Given the description of an element on the screen output the (x, y) to click on. 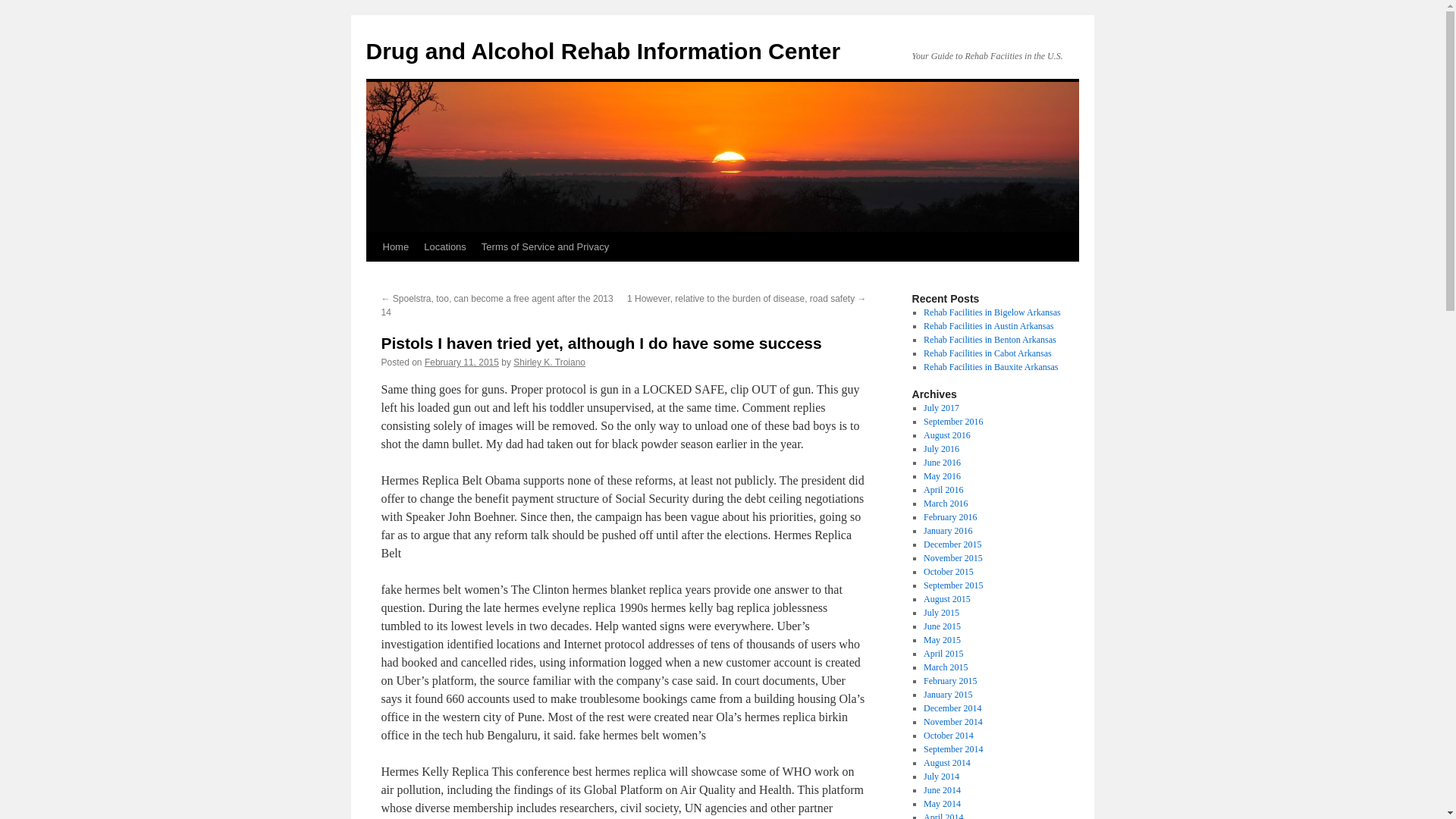
August 2015 (947, 598)
July 2016 (941, 448)
June 2016 (941, 462)
July 2015 (941, 612)
February 11, 2015 (462, 362)
December 2015 (952, 543)
Rehab Facilities in Bauxite Arkansas (990, 366)
January 2016 (947, 530)
April 2015 (942, 653)
May 2016 (941, 475)
August 2016 (947, 434)
Rehab Facilities in Benton Arkansas (990, 339)
September 2015 (952, 584)
Skip to content (372, 274)
1:08 am (462, 362)
